Given the description of an element on the screen output the (x, y) to click on. 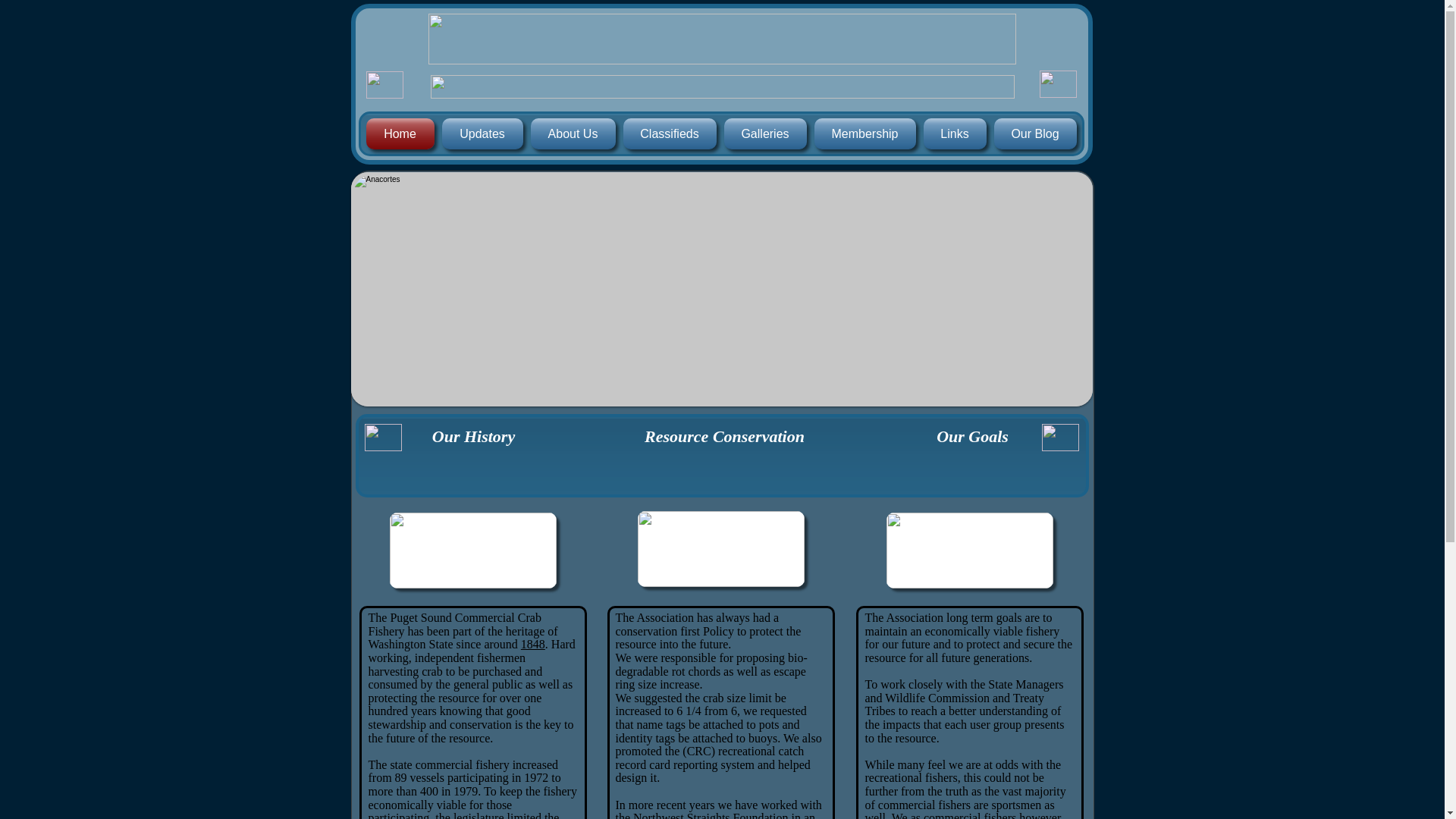
sunrise over skagit bay (720, 549)
logo.png (384, 84)
logo.png (382, 437)
logo.png (1060, 437)
logo.png (1057, 83)
Dungeness Crab (968, 550)
mt baker (473, 550)
Home (401, 133)
